Given the description of an element on the screen output the (x, y) to click on. 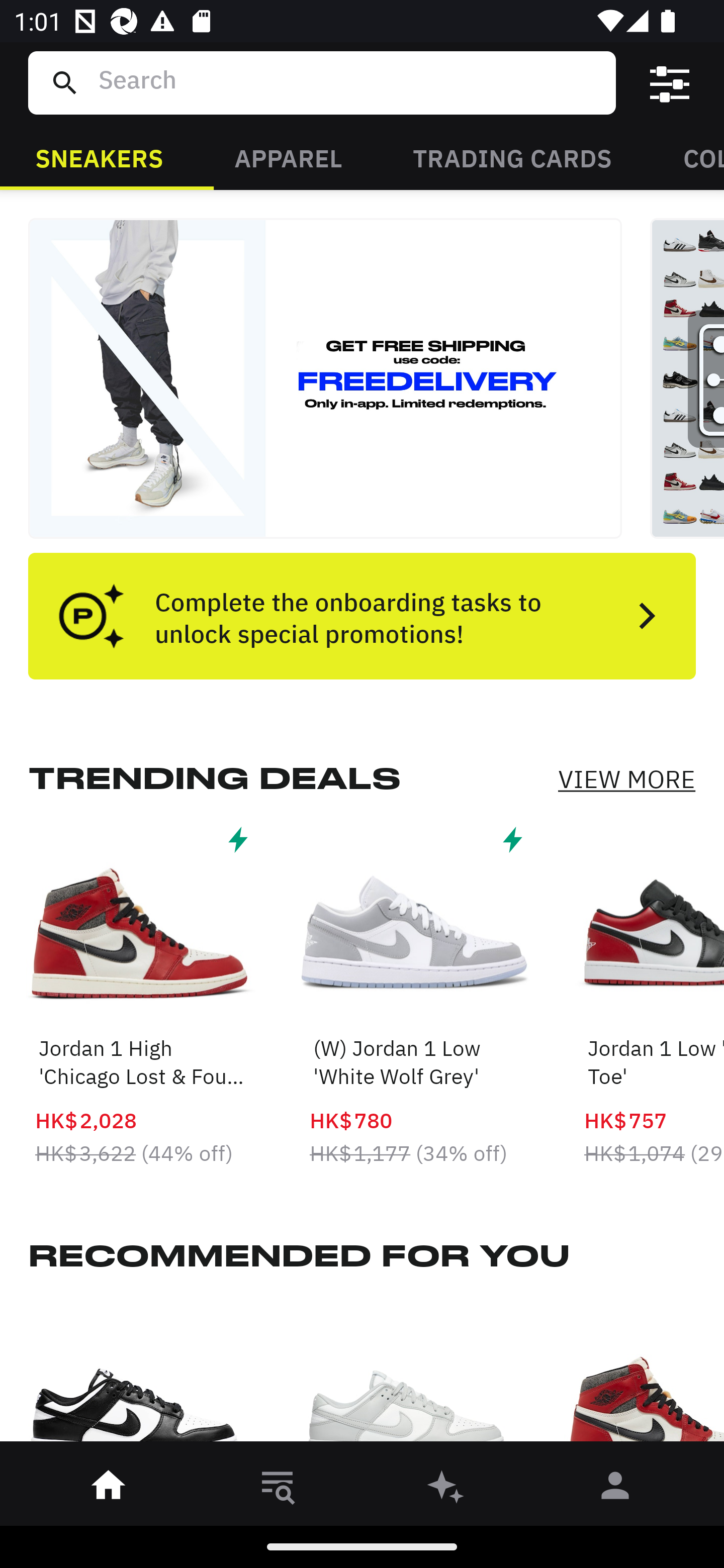
Search (349, 82)
 (669, 82)
SNEAKERS (99, 156)
APPAREL (287, 156)
TRADING CARDS (512, 156)
VIEW MORE (626, 779)
󰋜 (108, 1488)
󱎸 (277, 1488)
󰫢 (446, 1488)
󰀄 (615, 1488)
